Given the description of an element on the screen output the (x, y) to click on. 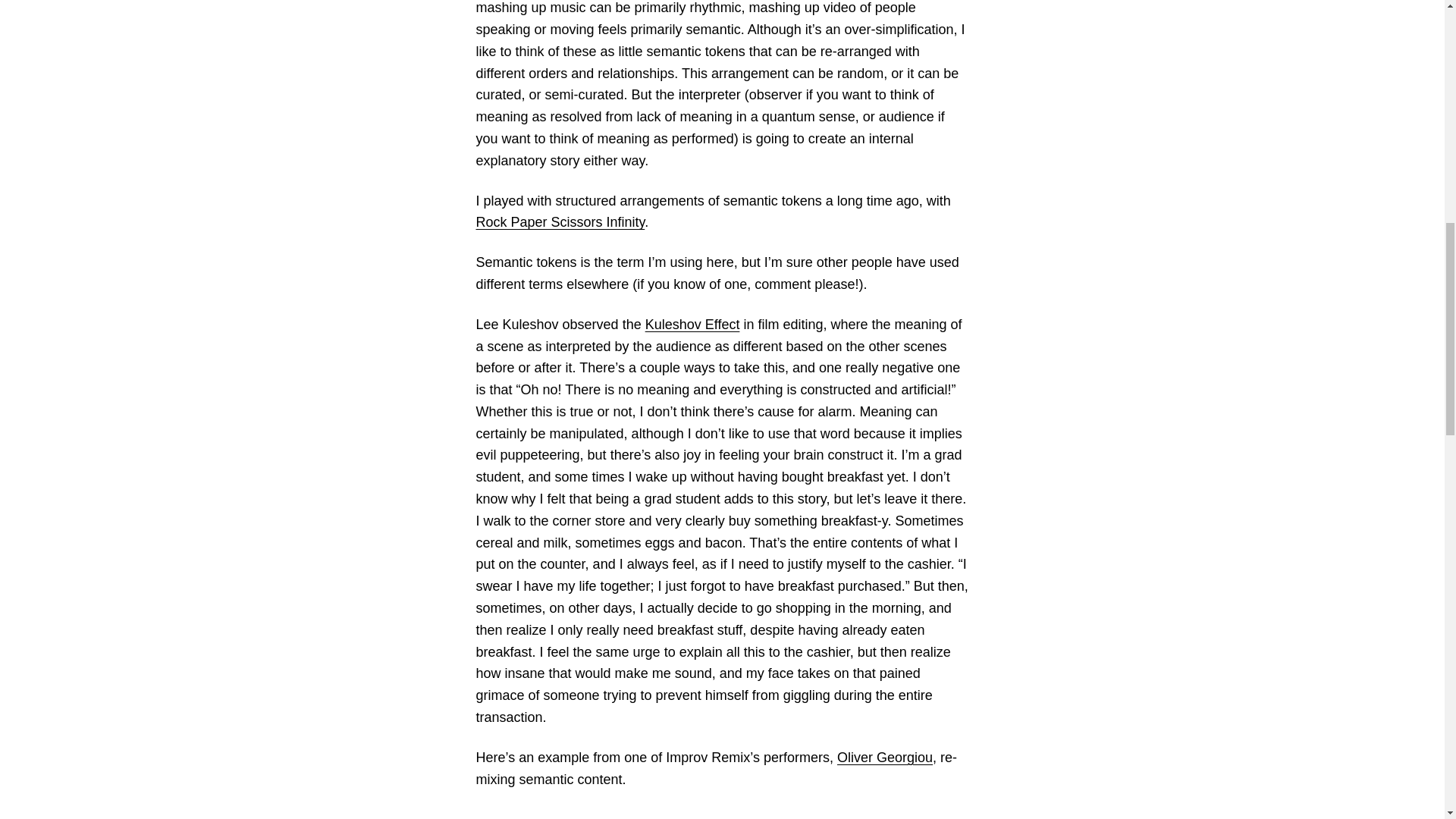
Rock Paper Scissors Infinity (560, 222)
Oliver Georgiou (885, 757)
Kuleshov Effect (692, 324)
